Given the description of an element on the screen output the (x, y) to click on. 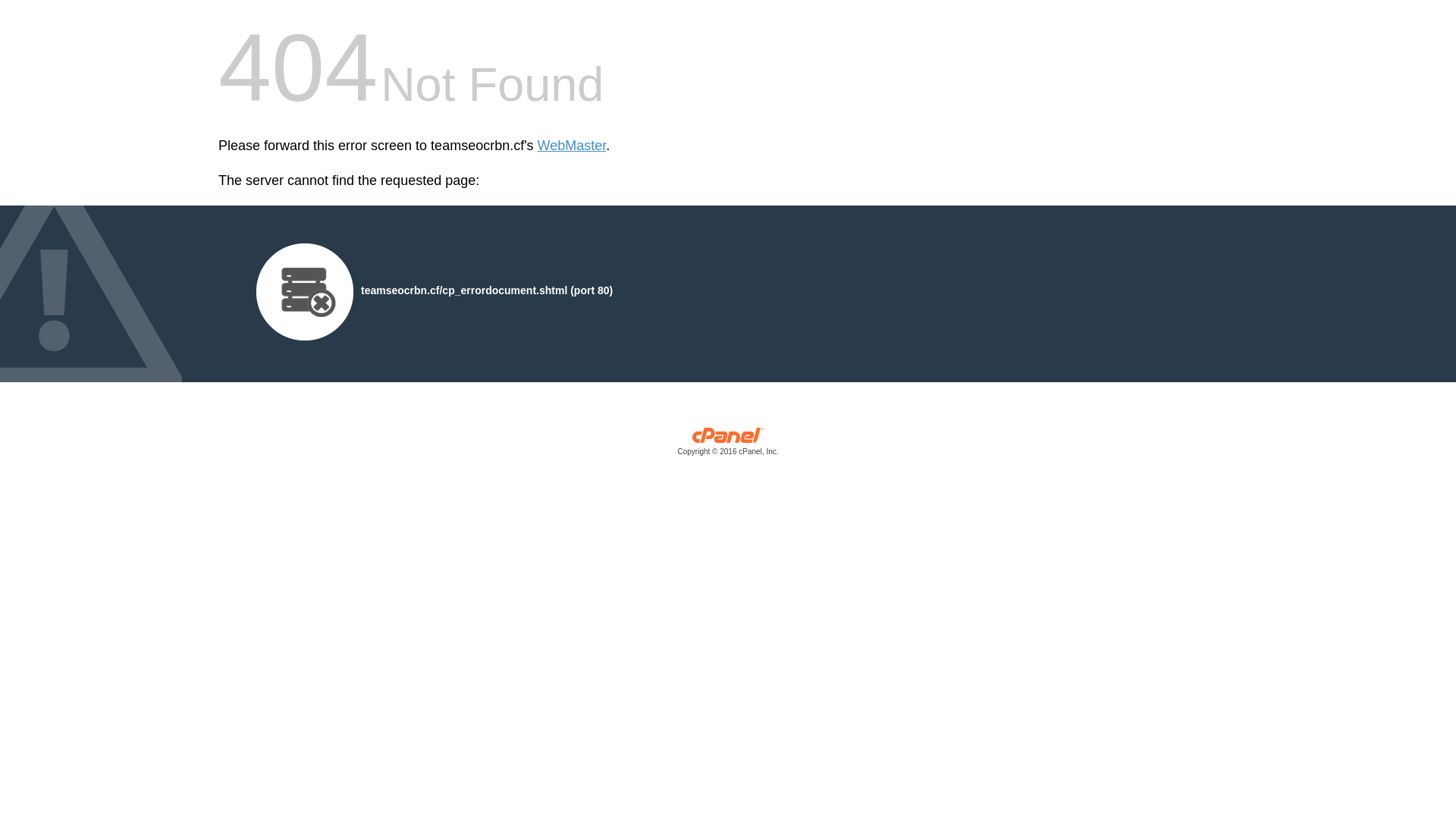
WebMaster Element type: text (571, 145)
